Given the description of an element on the screen output the (x, y) to click on. 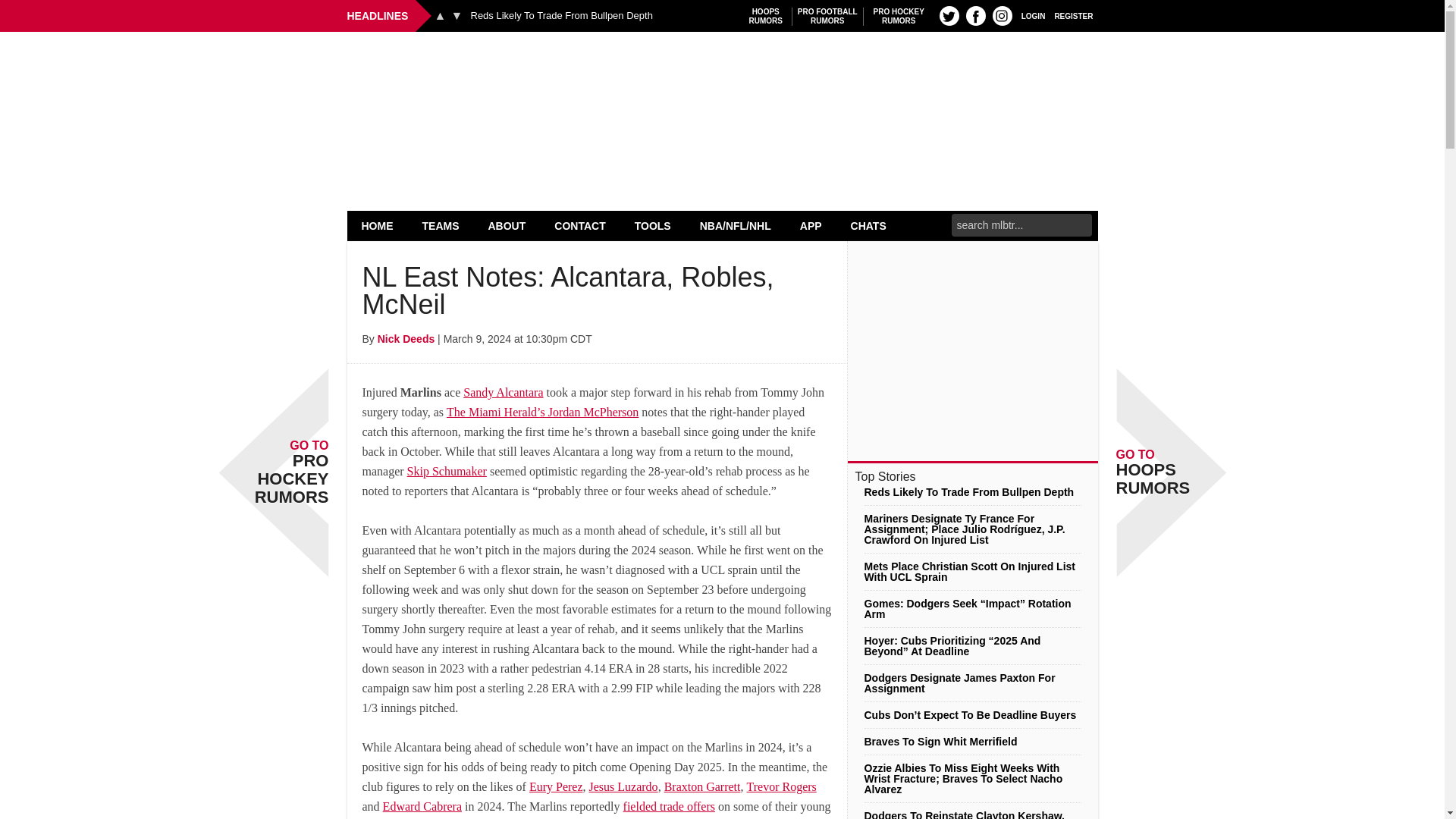
FB profile (827, 16)
Next (975, 15)
REGISTER (898, 16)
Reds Likely To Trade From Bullpen Depth (456, 15)
HOME (1073, 15)
TEAMS (765, 16)
Twitter profile (561, 15)
LOGIN (377, 225)
Previous (440, 225)
Search (949, 15)
Instagram profile (1032, 15)
MLB Trade Rumors (439, 15)
